Given the description of an element on the screen output the (x, y) to click on. 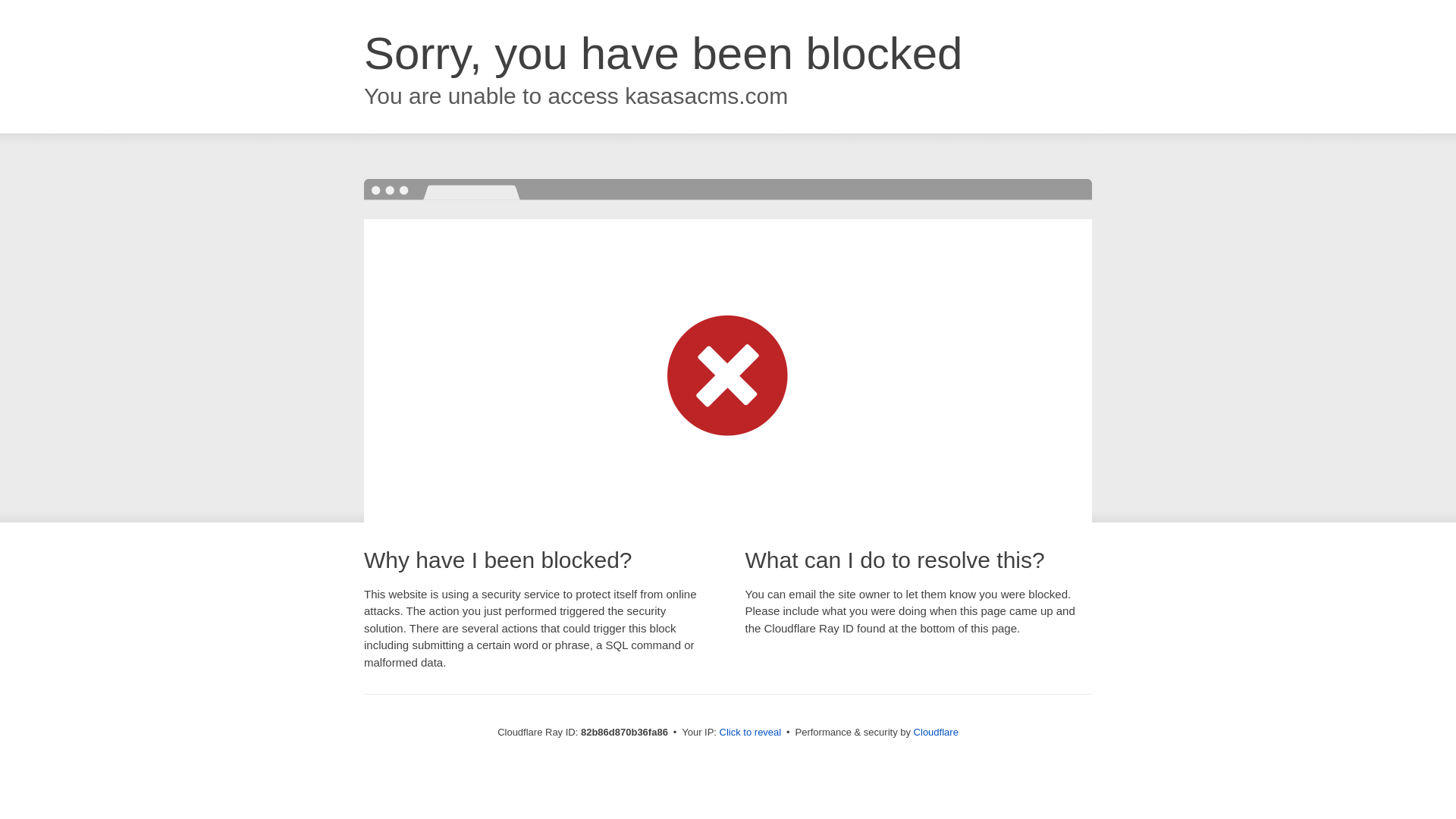
Cloudflare Element type: text (935, 731)
Click to reveal Element type: text (750, 732)
